Given the description of an element on the screen output the (x, y) to click on. 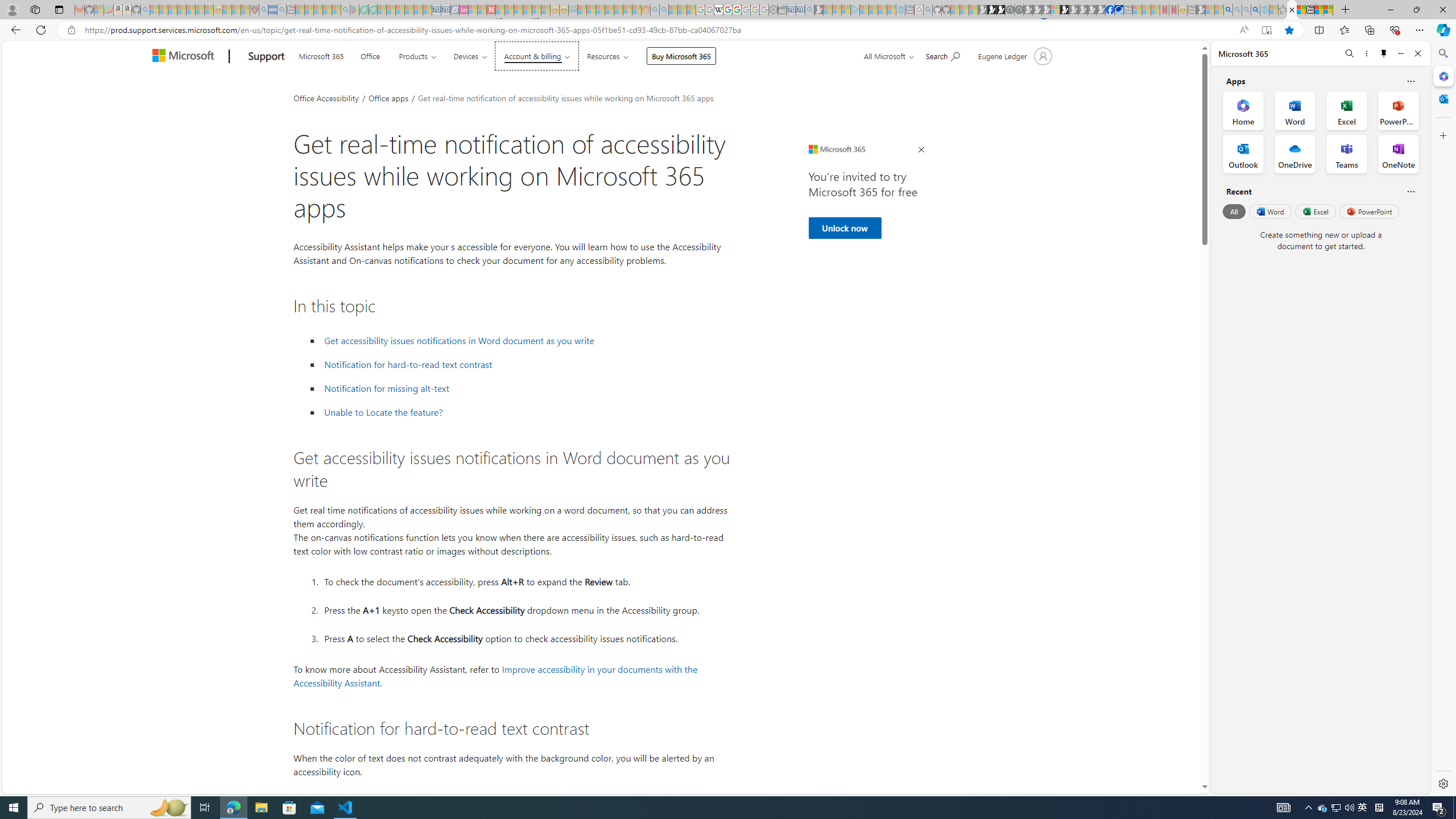
OneNote Office App (1398, 154)
Play Zoo Boom in your browser | Games from Microsoft Start (991, 9)
Microsoft Start - Sleeping (882, 9)
Notification for missing alt-text (525, 388)
NCL Adult Asthma Inhaler Choice Guideline - Sleeping (272, 9)
Office apps  (389, 97)
 Unable to Locate the feature? (383, 412)
Close Microsoft 365 pane (1442, 76)
